Given the description of an element on the screen output the (x, y) to click on. 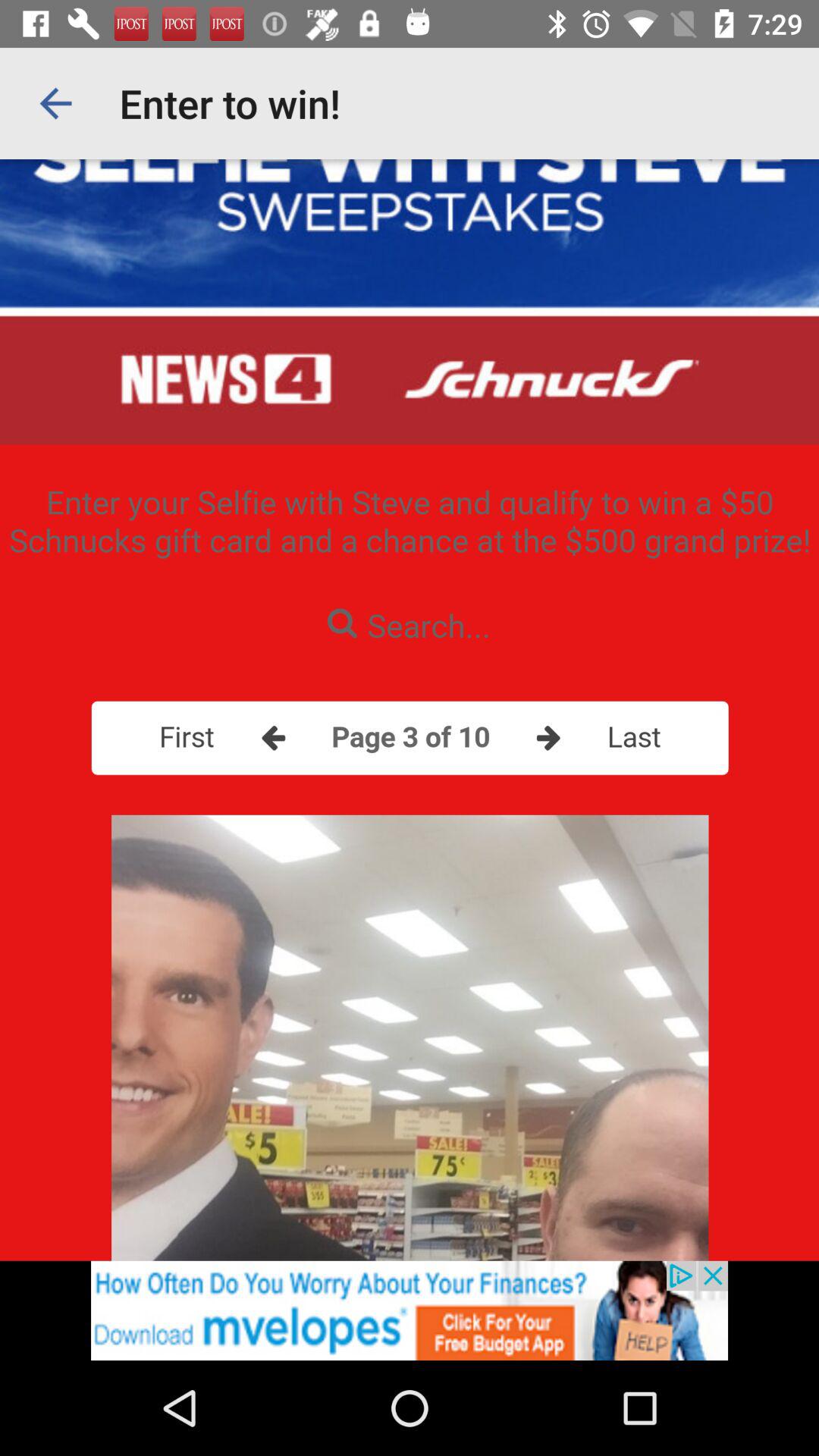
advertisement page (409, 1310)
